Given the description of an element on the screen output the (x, y) to click on. 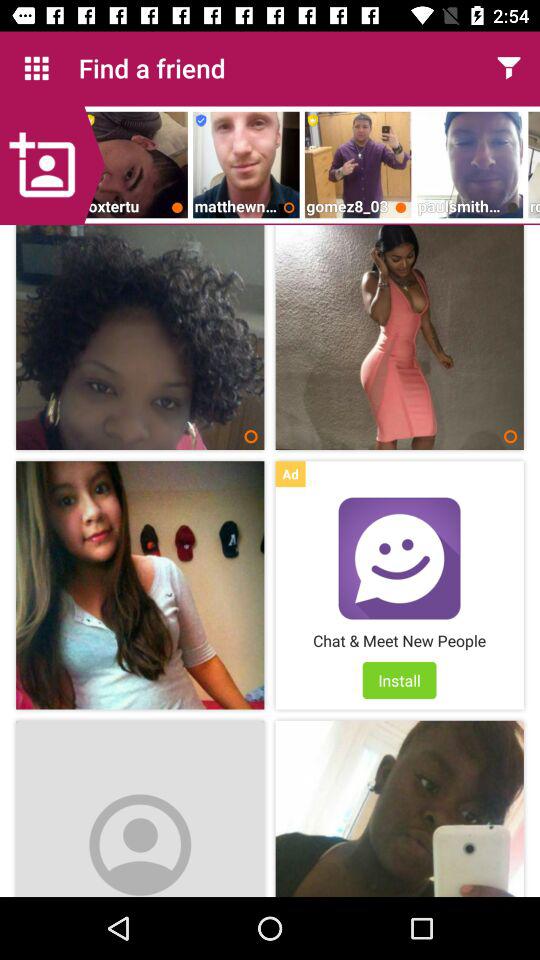
open advertisement (399, 558)
